Given the description of an element on the screen output the (x, y) to click on. 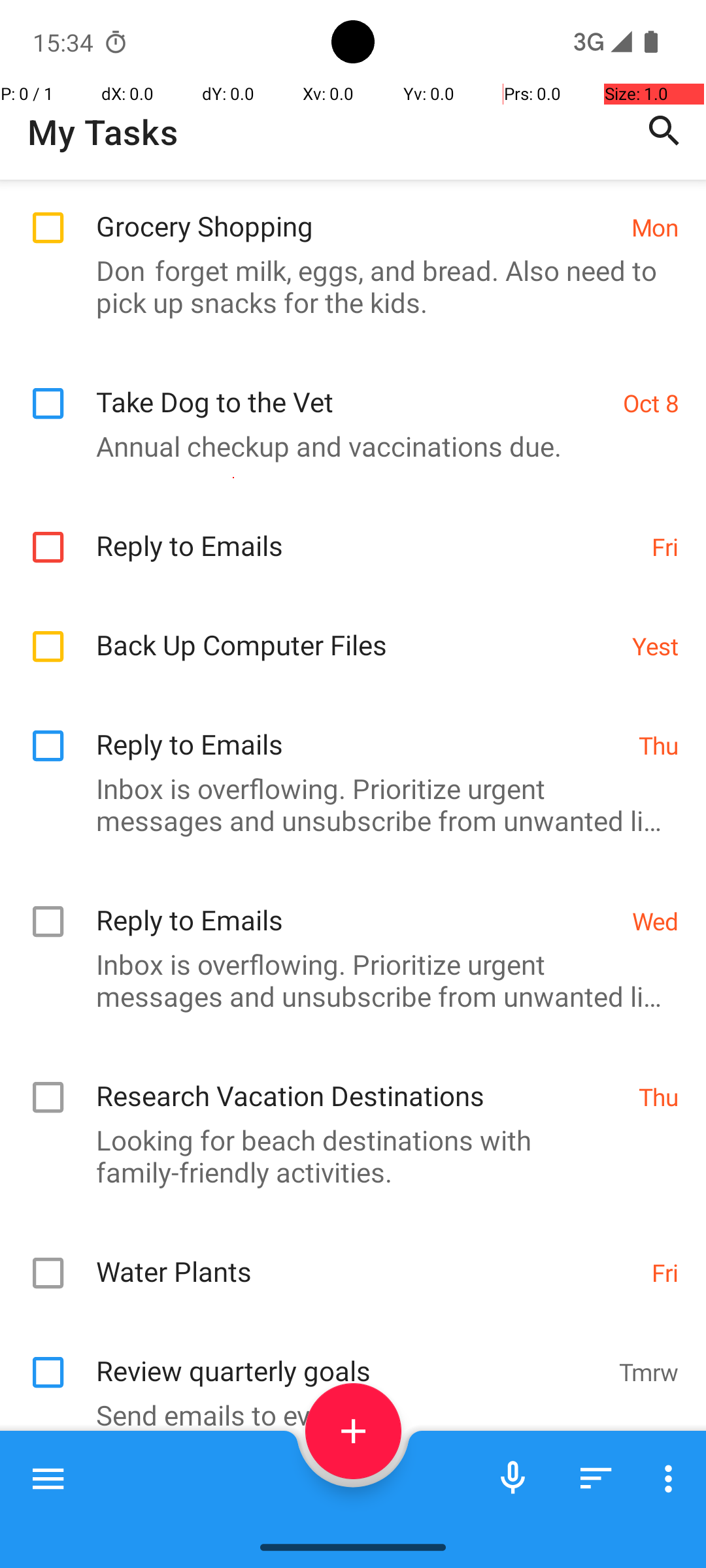
Review quarterly goals Element type: android.widget.TextView (350, 1356)
Send emails to everyone. Element type: android.widget.TextView (346, 1414)
Plan team outing Element type: android.widget.TextView (361, 1497)
